Given the description of an element on the screen output the (x, y) to click on. 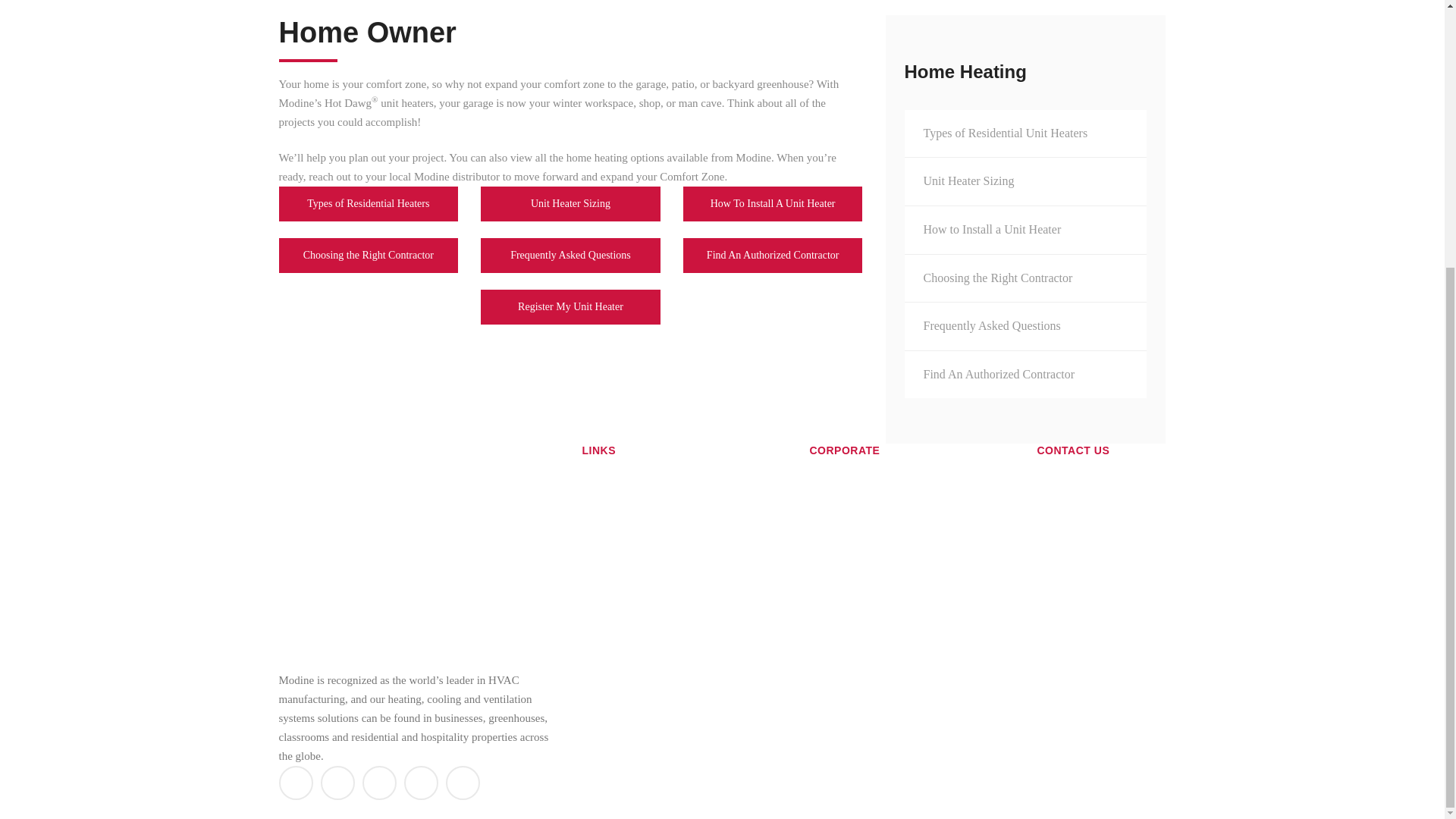
How to Install a Unit Heater (1025, 229)
Frequently Asked Questions (570, 255)
Unit Heater Sizing (1025, 181)
How To Install A Unit Heater (772, 203)
Contact Us (798, 357)
Unit Heater Sizing (570, 203)
Choosing the Right Contractor (368, 255)
Find An Authorized Contractor (1025, 374)
Types of Residential Unit Heaters (1025, 133)
CONTACT US (798, 357)
Choosing the Right Contractor (1025, 277)
Types of Residential Heaters (368, 203)
Frequently Asked Questions (1025, 326)
Register My Unit Heater (570, 306)
Find An Authorized Contractor (772, 255)
